Given the description of an element on the screen output the (x, y) to click on. 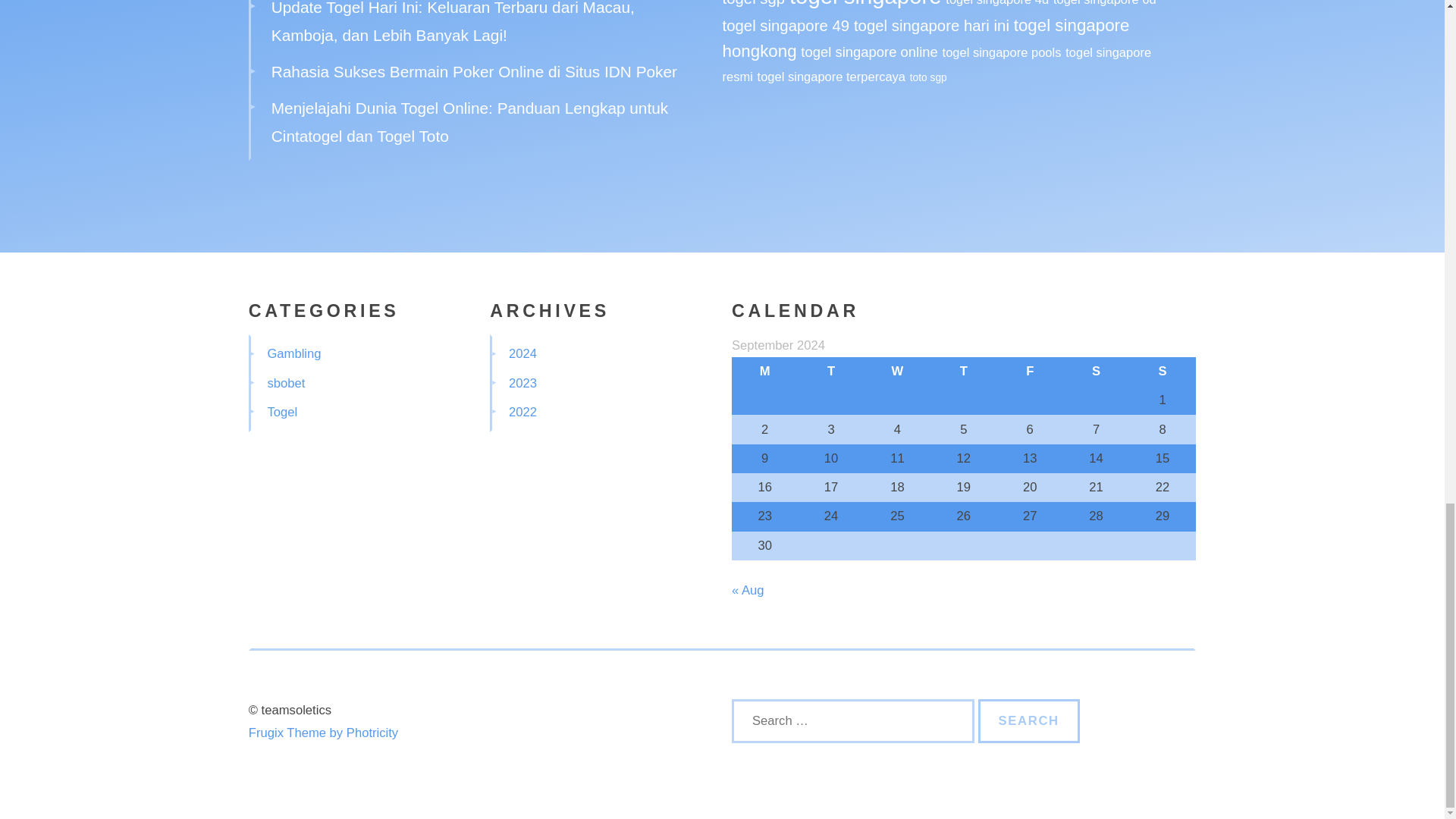
Tuesday (830, 371)
Rahasia Sukses Bermain Poker Online di Situs IDN Poker (473, 71)
Search (1029, 720)
Saturday (1095, 371)
Thursday (962, 371)
Friday (1029, 371)
Sunday (1162, 371)
Wednesday (897, 371)
